Given the description of an element on the screen output the (x, y) to click on. 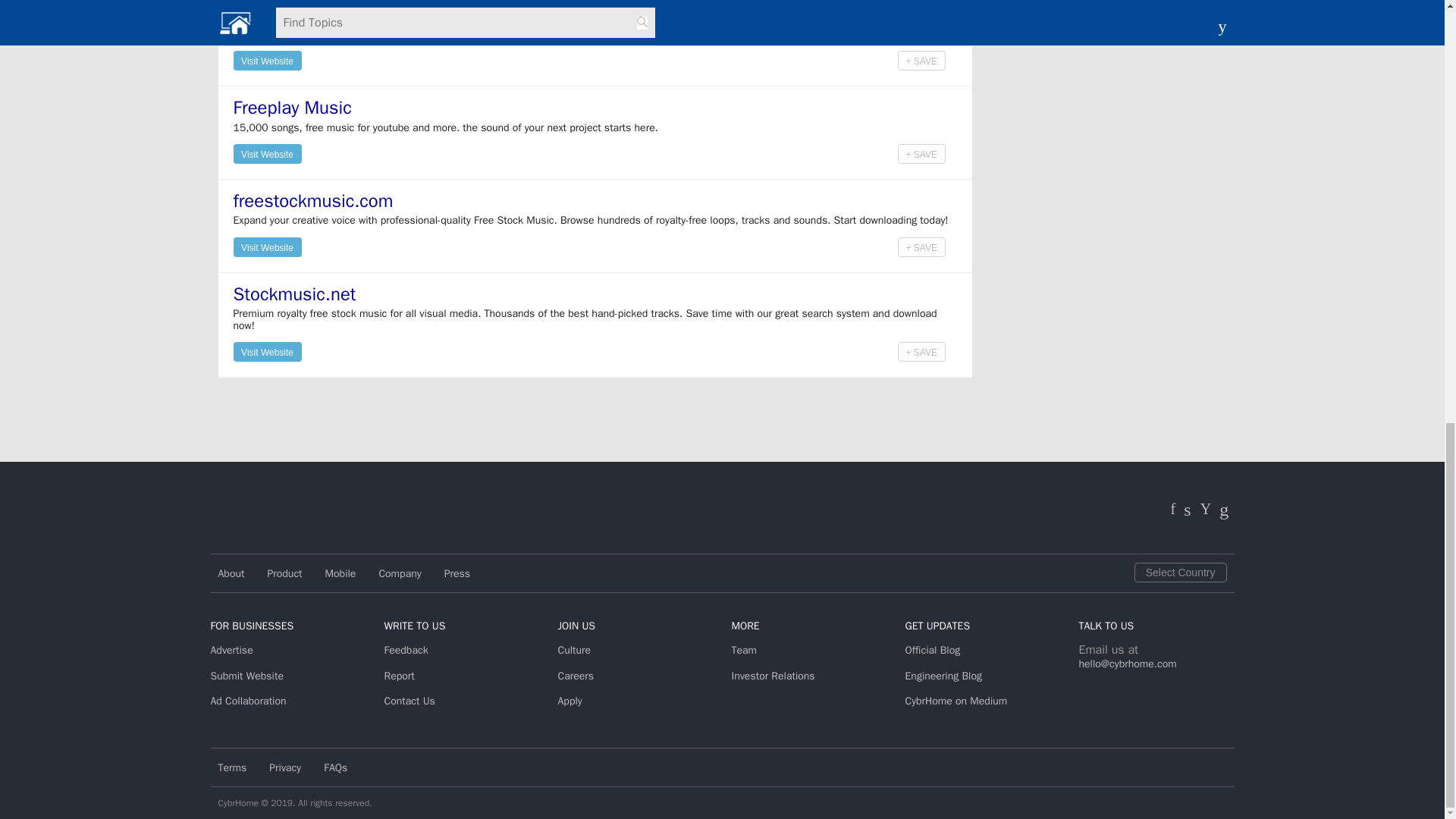
Visit Website (266, 60)
Visit Website (266, 59)
free-stock-music.com (318, 14)
